Given the description of an element on the screen output the (x, y) to click on. 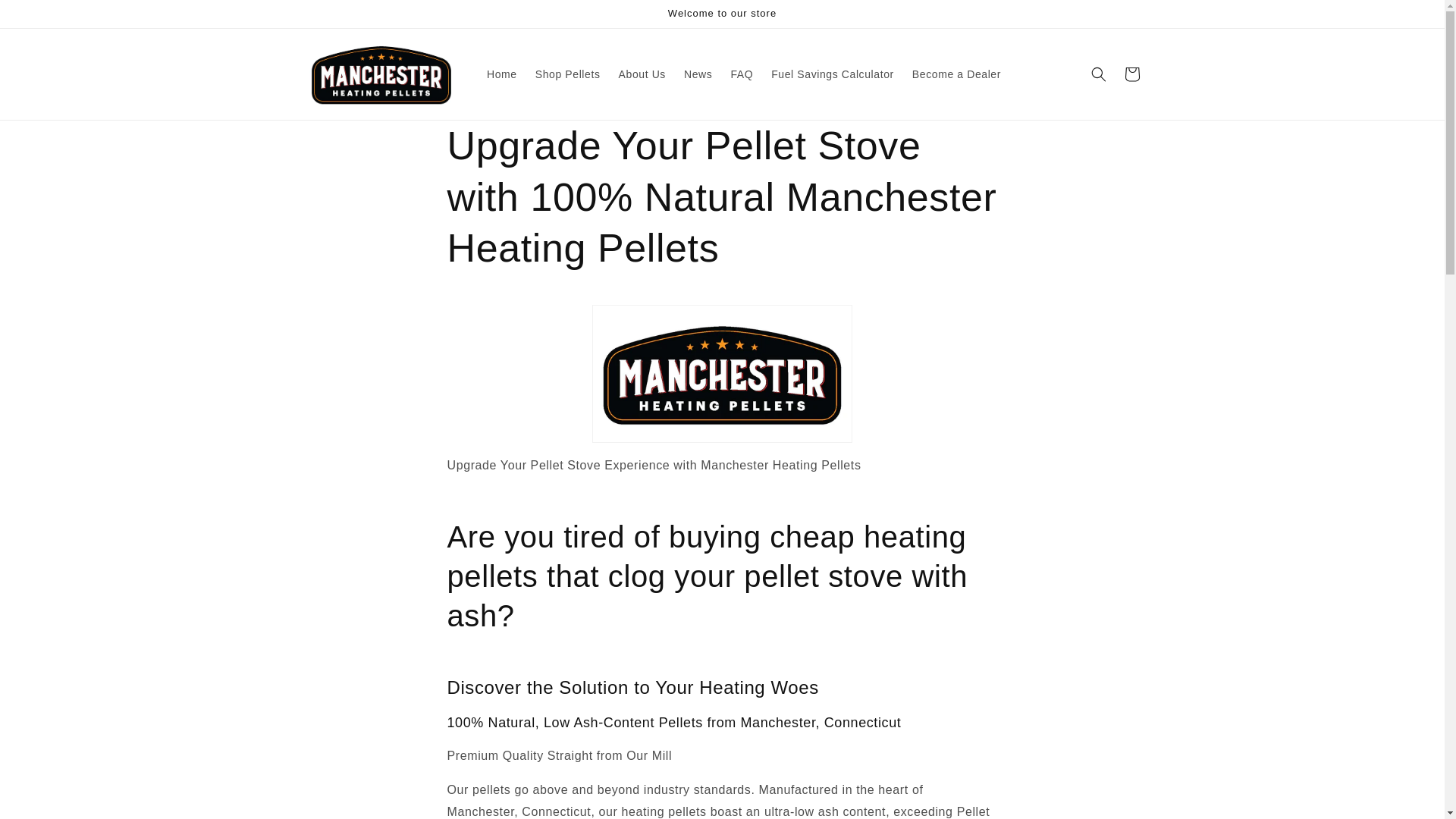
News (697, 74)
Shop Pellets (567, 74)
Cart (1131, 73)
About Us (642, 74)
Home (501, 74)
FAQ (740, 74)
Skip to content (45, 17)
Fuel Savings Calculator (831, 74)
Become a Dealer (956, 74)
